Given the description of an element on the screen output the (x, y) to click on. 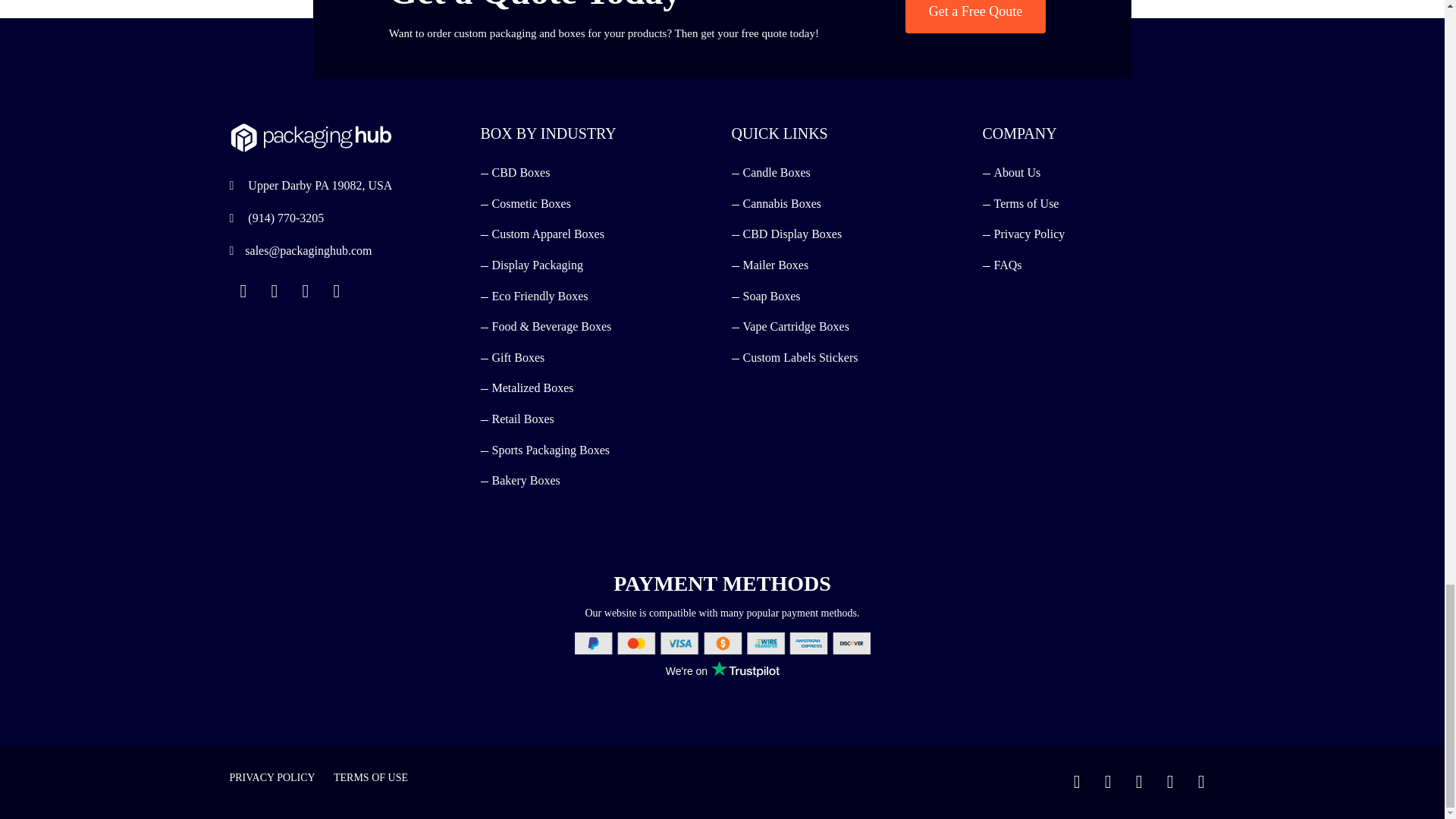
Customer reviews powered by Trustpilot (721, 670)
Packaging Hub (309, 143)
Get a Free Qoute (975, 16)
